Given the description of an element on the screen output the (x, y) to click on. 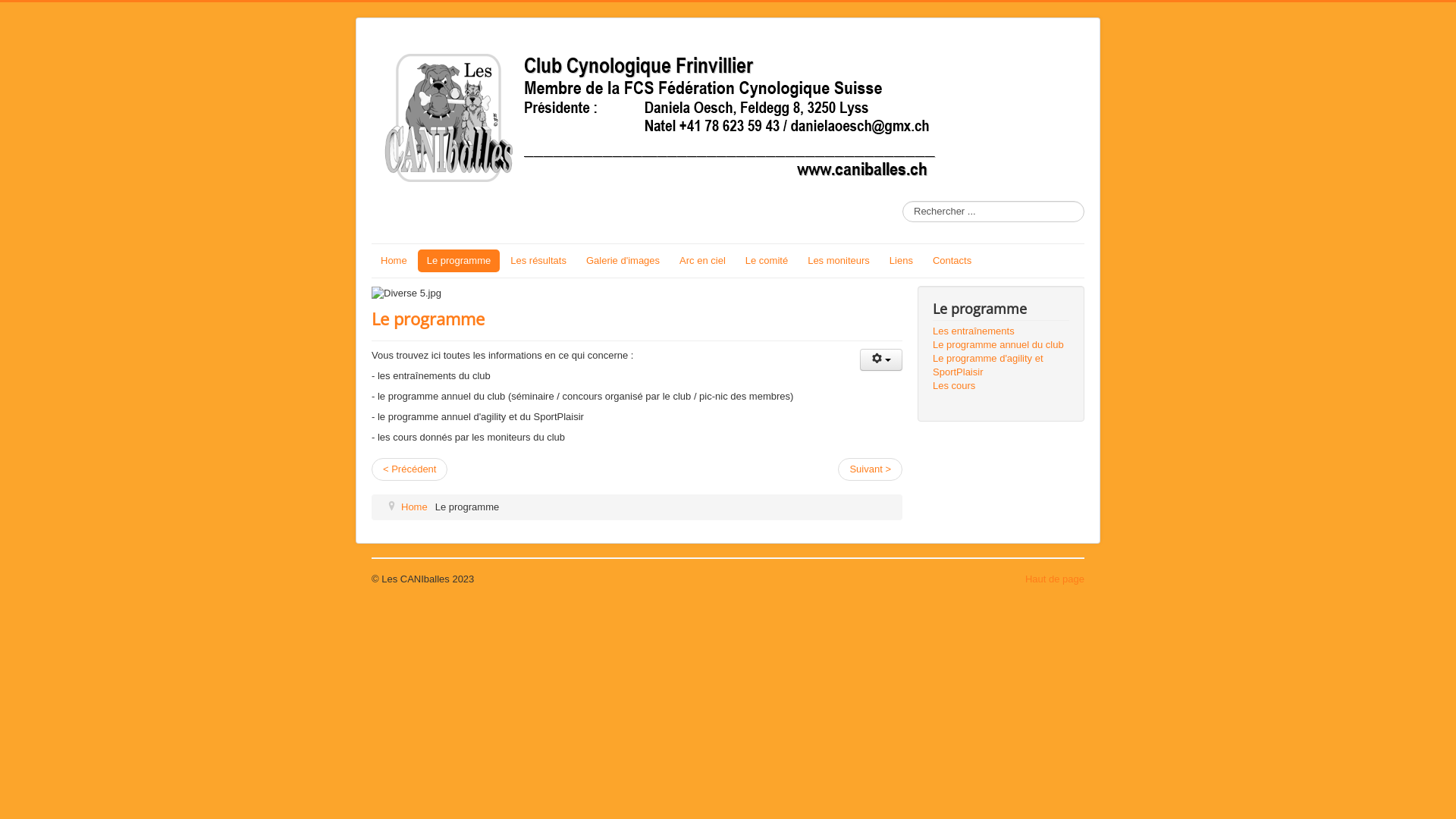
Suivant > Element type: text (869, 469)
Arc en ciel Element type: text (702, 260)
Le programme Element type: text (458, 260)
Haut de page Element type: text (1054, 578)
Le programme annuel du club Element type: text (1000, 344)
Contacts Element type: text (951, 260)
Liens Element type: text (901, 260)
Home Element type: text (414, 506)
Galerie d'images Element type: text (622, 260)
Le programme d'agility et SportPlaisir Element type: text (1000, 365)
Le programme Element type: text (427, 318)
Les moniteurs Element type: text (838, 260)
Les cours Element type: text (1000, 385)
Home Element type: text (393, 260)
